Given the description of an element on the screen output the (x, y) to click on. 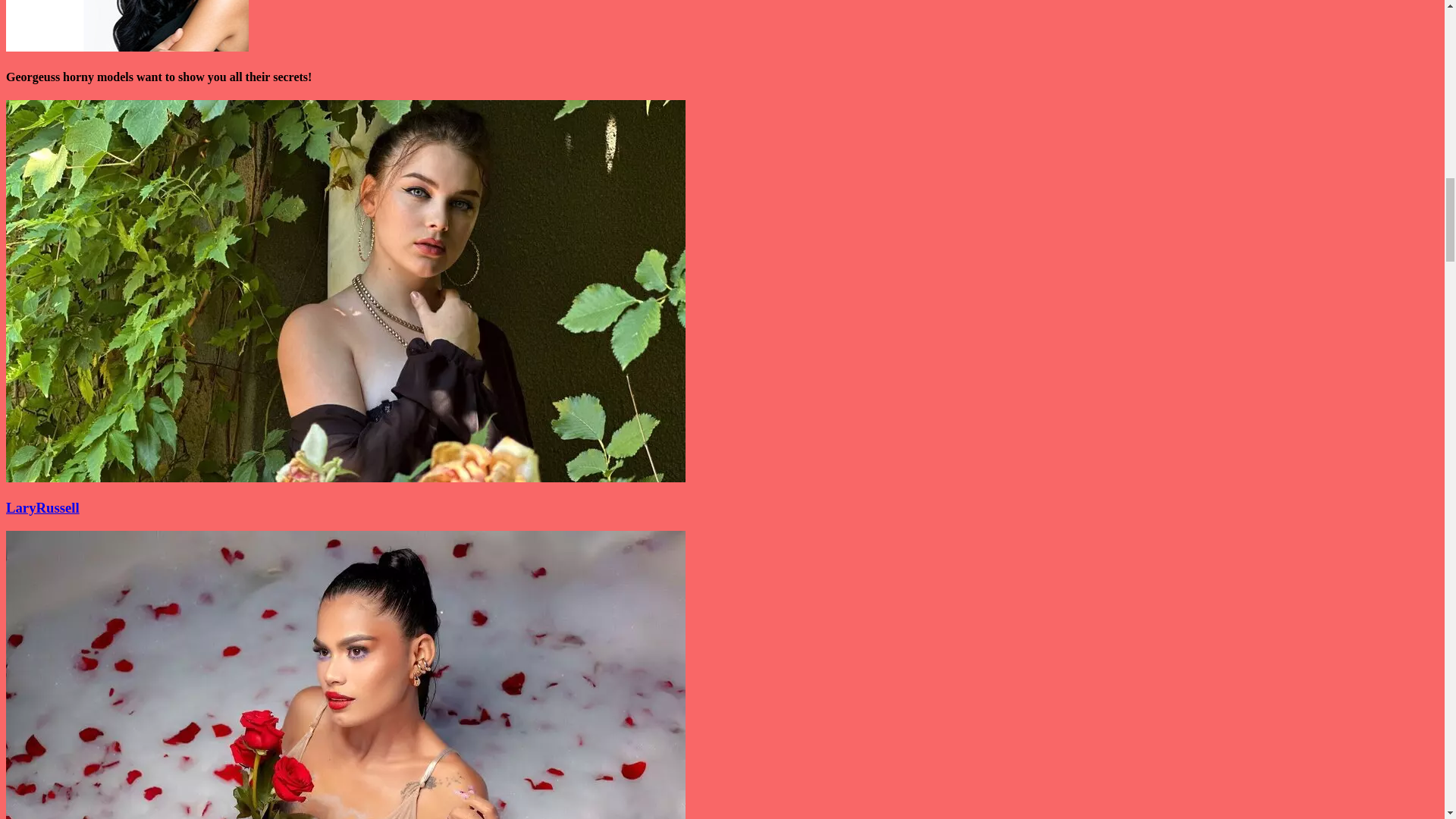
Start Anal Finger LaryRussell (345, 477)
